Given the description of an element on the screen output the (x, y) to click on. 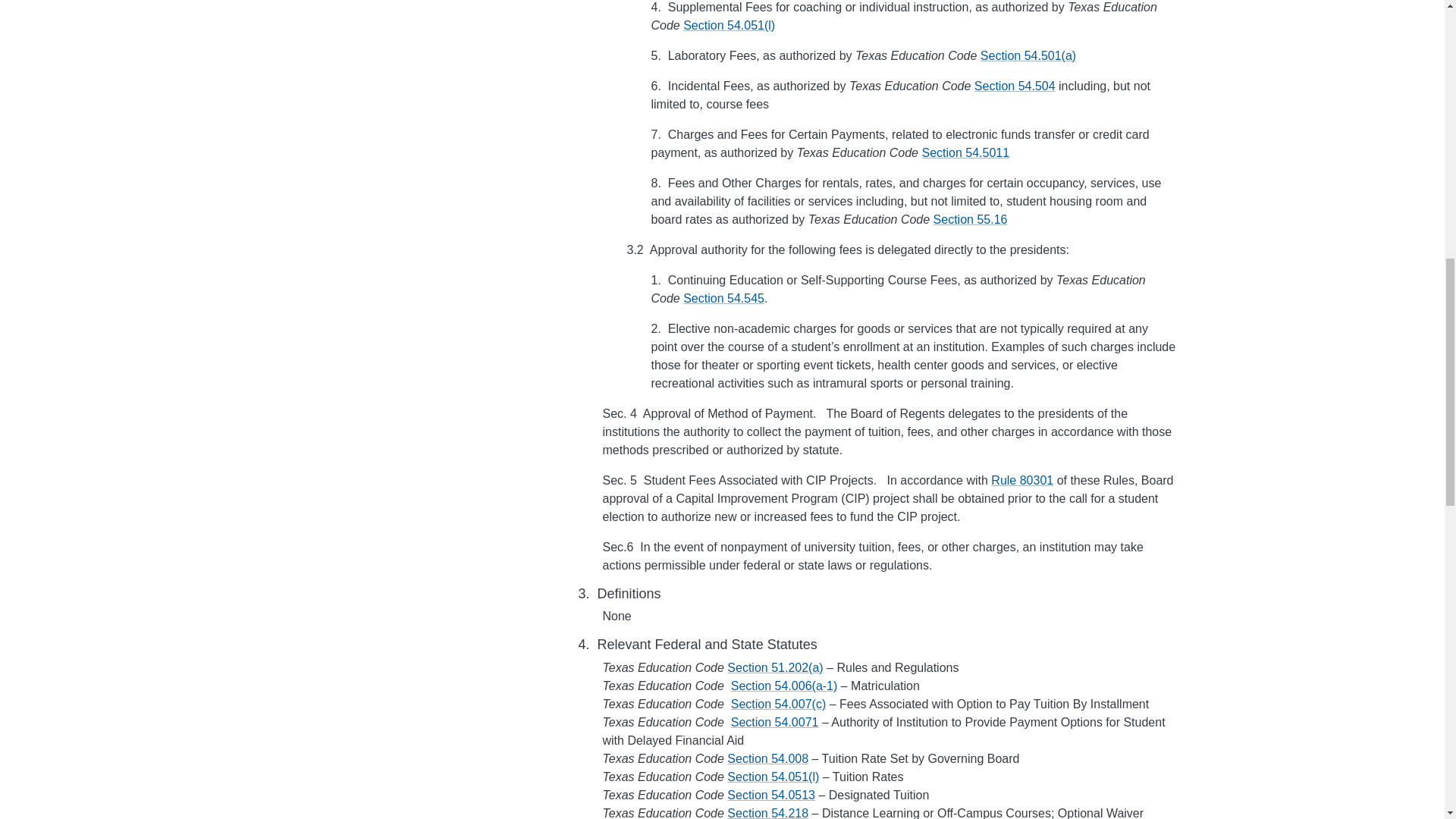
Section 54.504 (1014, 85)
Rule 80301 (1021, 480)
Section 54.0071 (774, 721)
Section 54.218 (767, 812)
Section 54.0513 (770, 794)
Section 55.16 (970, 219)
Section 54.5011 (965, 152)
Section 54.008 (767, 758)
Section 54.545 (723, 297)
